Given the description of an element on the screen output the (x, y) to click on. 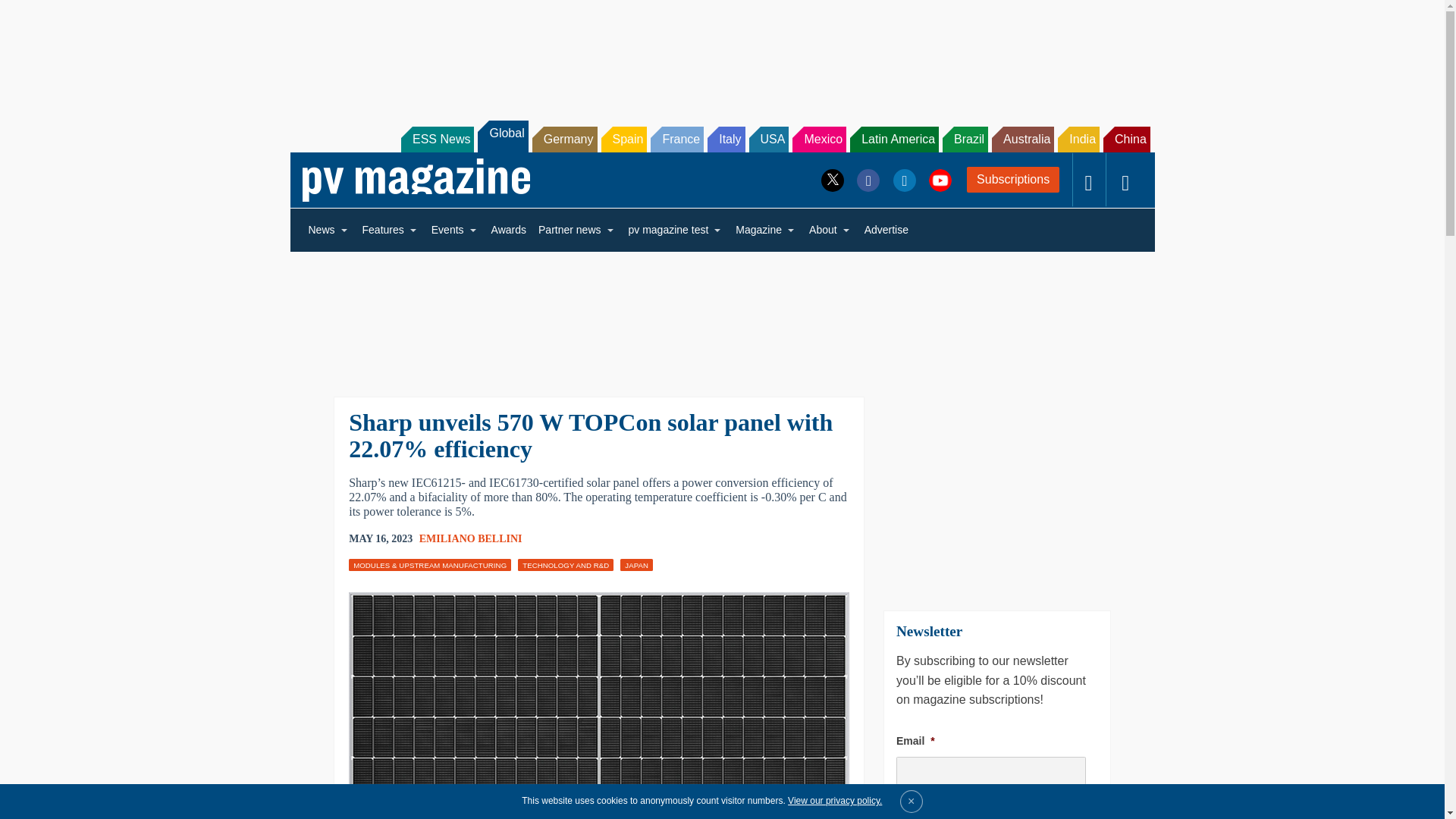
Italy (725, 139)
Posts by Emiliano Bellini (470, 538)
Germany (564, 139)
3rd party ad content (721, 51)
Mexico (818, 139)
Subscriptions (1012, 179)
Tuesday, May 16, 2023, 4:19 pm (380, 538)
pv magazine - Photovoltaics Markets and Technology (415, 180)
Search (32, 15)
Australia (1022, 139)
